Given the description of an element on the screen output the (x, y) to click on. 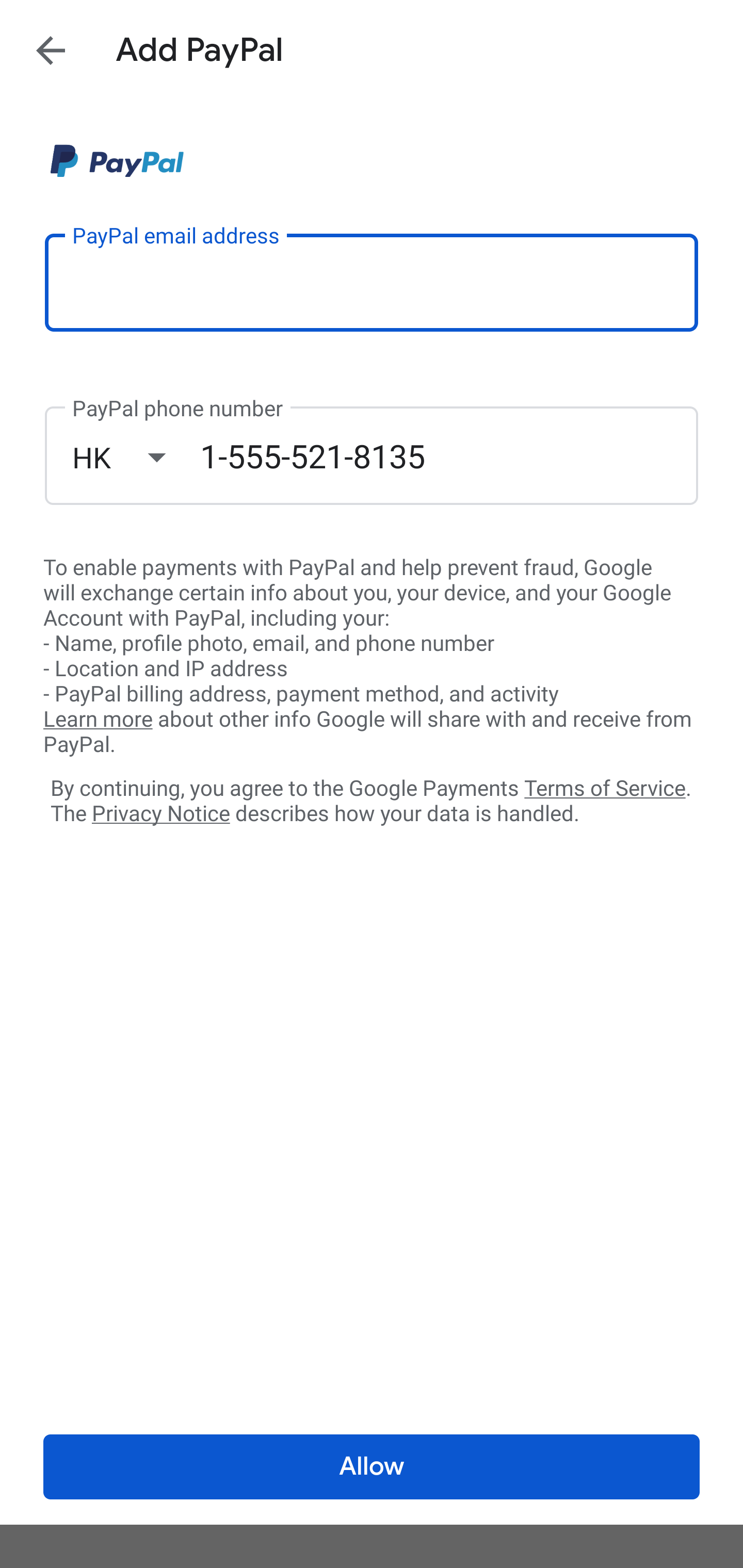
Navigate up (50, 50)
PayPal email address (371, 282)
HK (135, 456)
Learn more (97, 719)
Terms of Service (604, 787)
Privacy Notice (160, 814)
Allow (371, 1466)
